Given the description of an element on the screen output the (x, y) to click on. 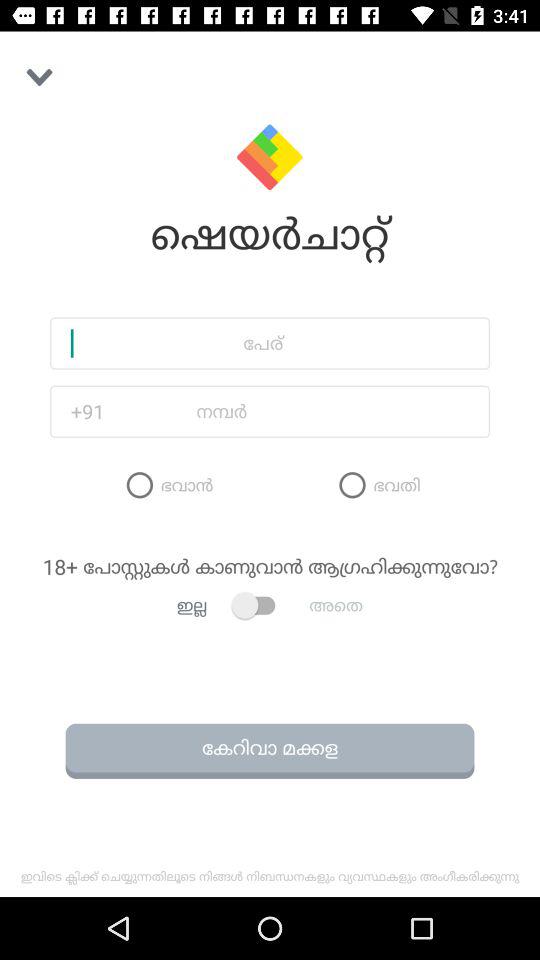
turn on the icon to the right of the +91 item (303, 411)
